Given the description of an element on the screen output the (x, y) to click on. 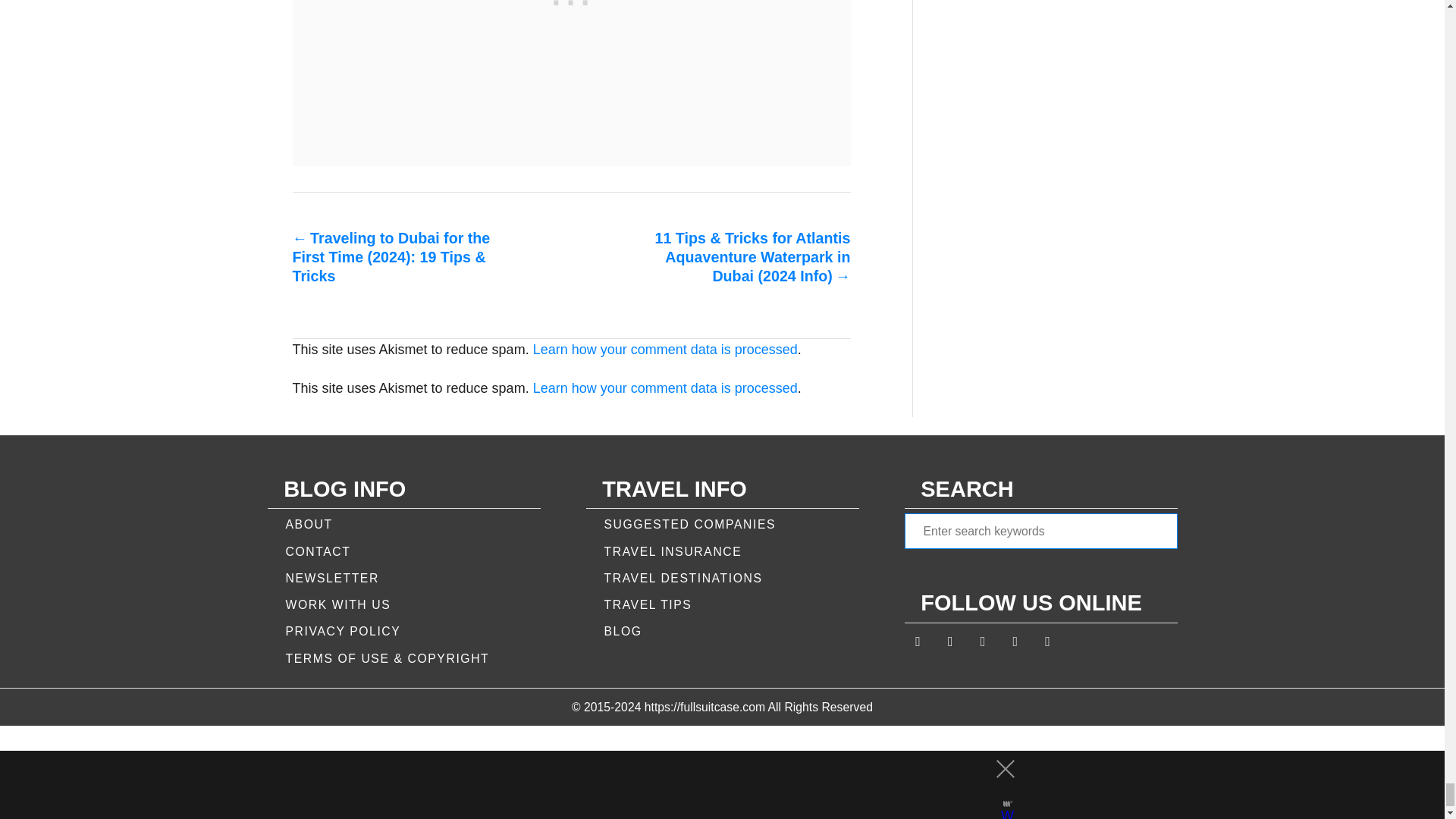
Search for: (1040, 530)
